Given the description of an element on the screen output the (x, y) to click on. 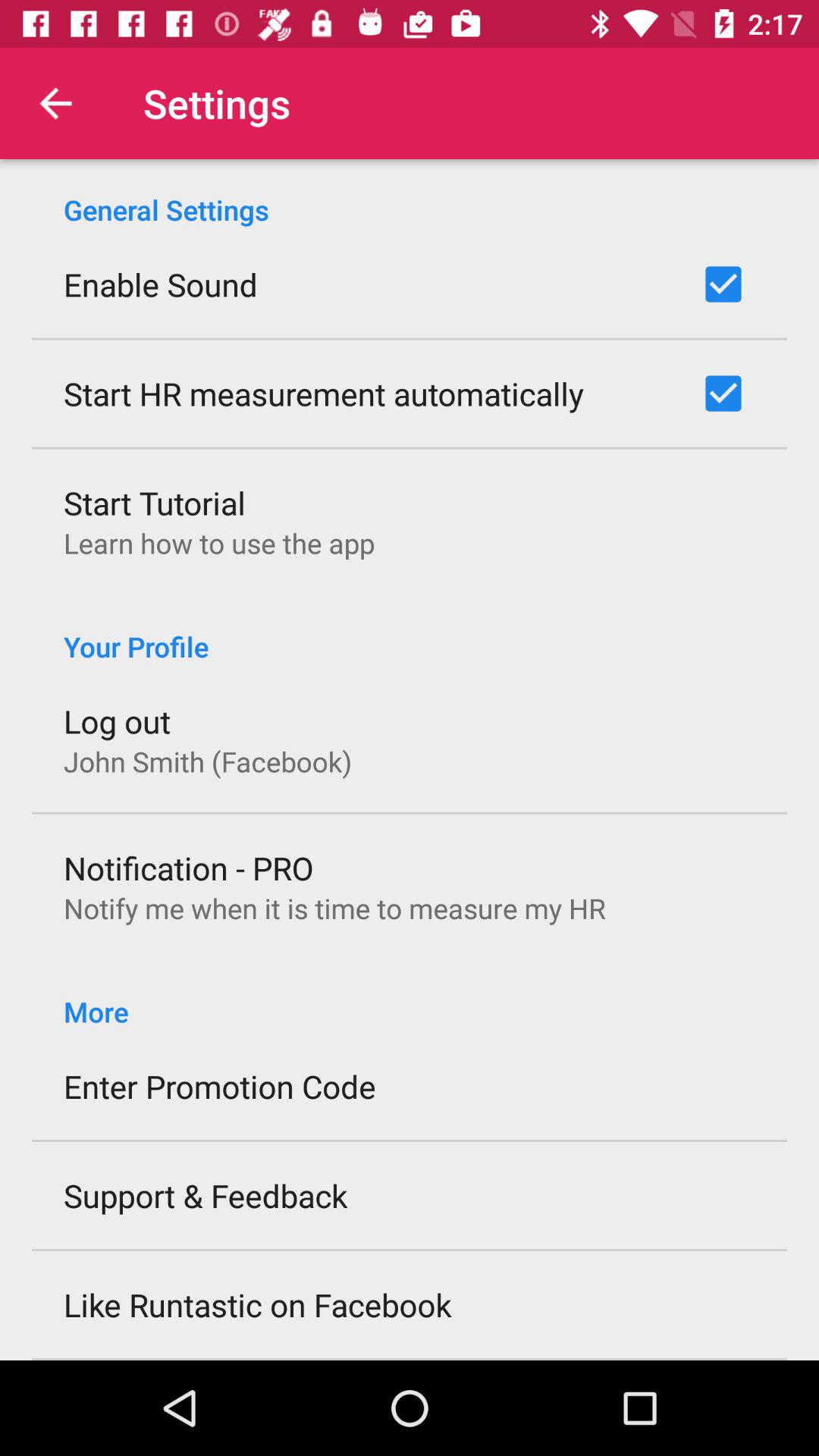
flip to notification - pro (188, 867)
